Given the description of an element on the screen output the (x, y) to click on. 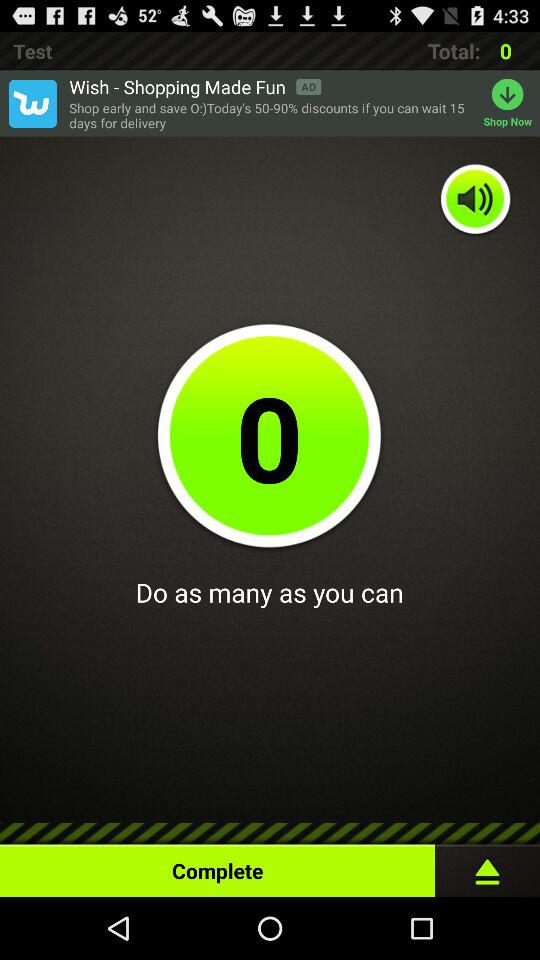
open icon to the left of the total: app (195, 86)
